Given the description of an element on the screen output the (x, y) to click on. 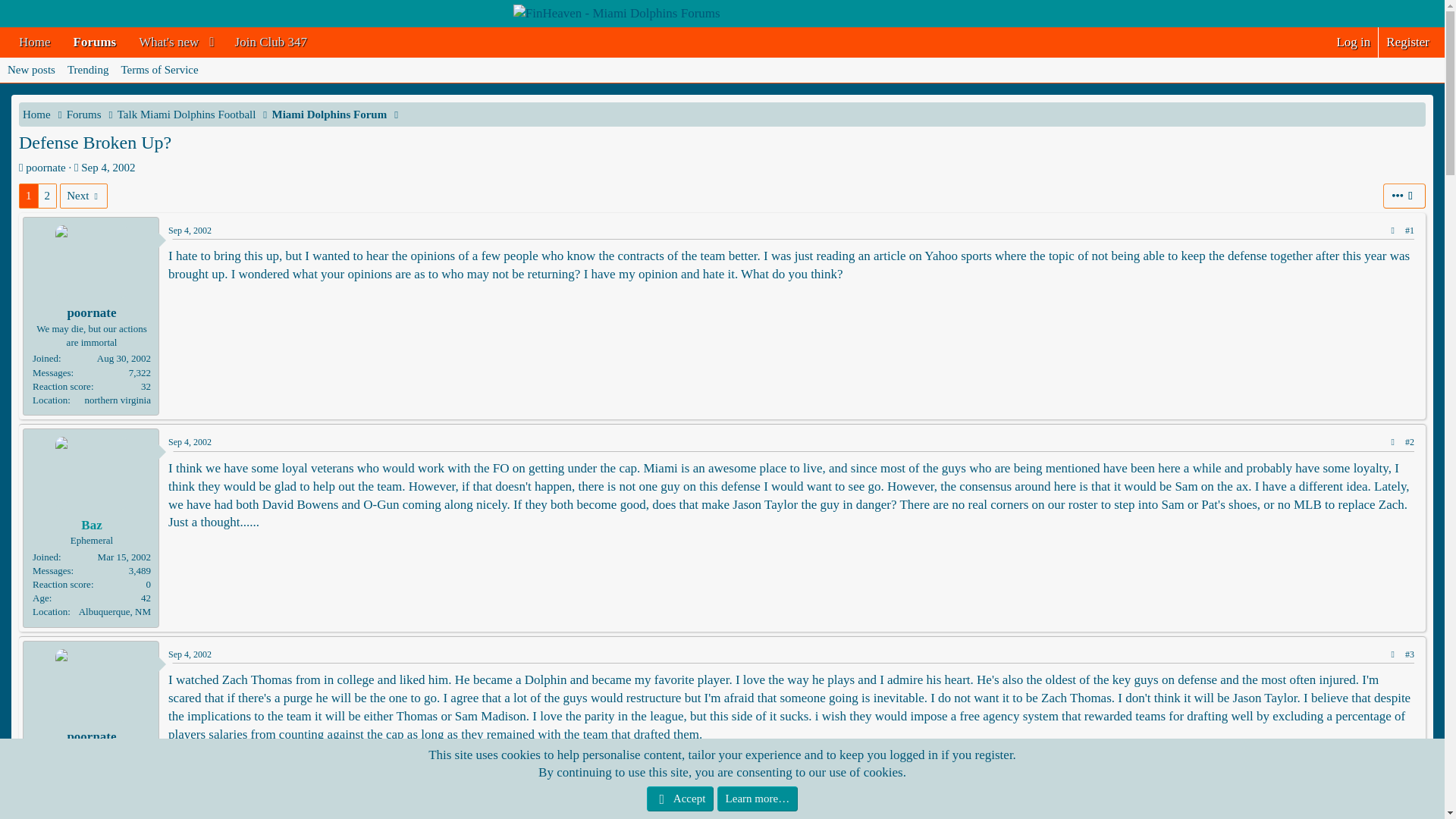
Trending (88, 69)
Register (1407, 42)
Forums (83, 114)
Sep 4, 2002 at 11:05 PM (108, 167)
1 (28, 196)
2 (46, 196)
poornate (721, 69)
Log in (45, 167)
Forums (1352, 42)
New posts (95, 42)
What's new (31, 69)
More options (164, 42)
Join Club 347 (1404, 195)
Sep 4, 2002 at 11:58 PM (271, 42)
